Given the description of an element on the screen output the (x, y) to click on. 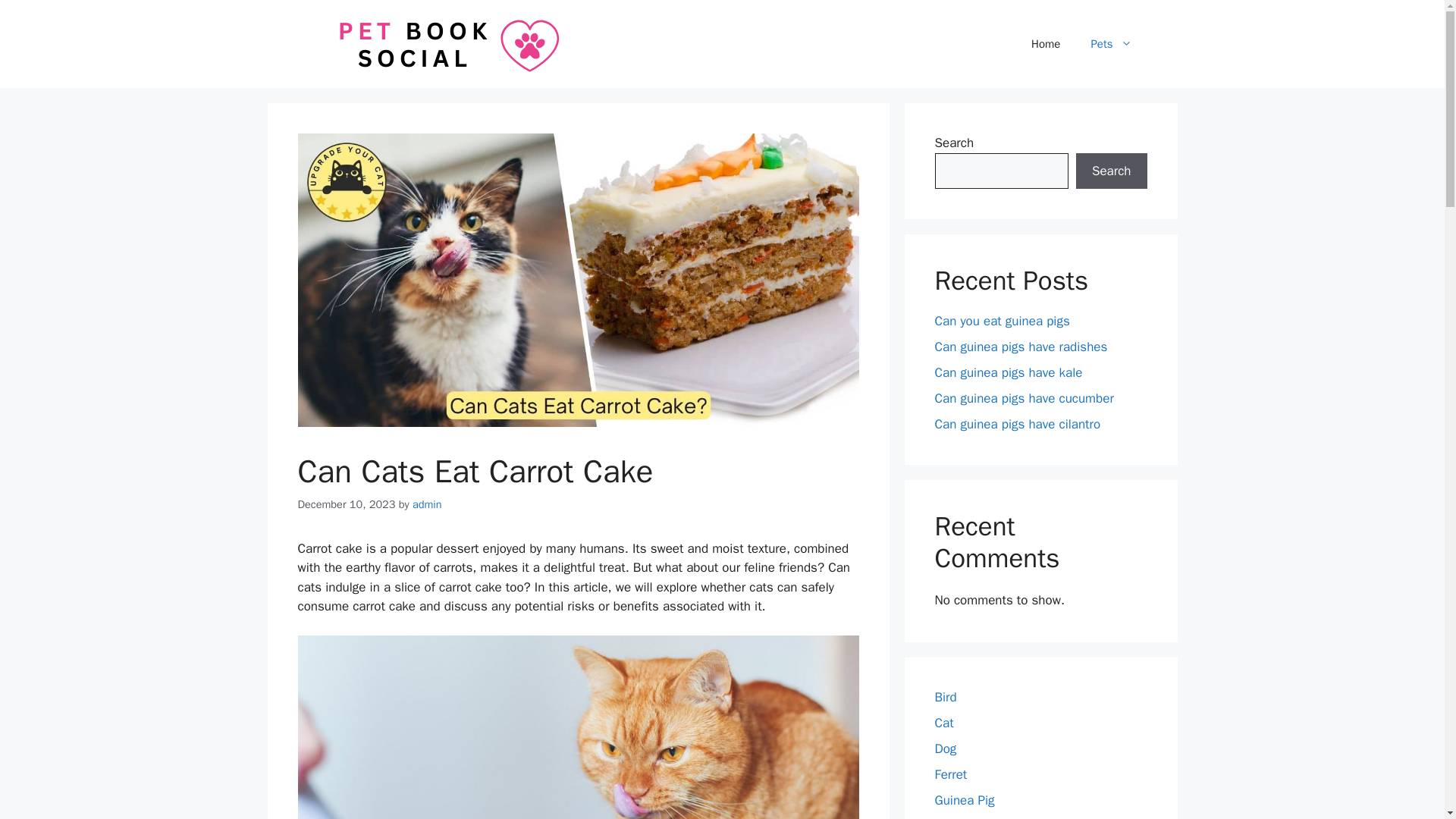
Can you eat guinea pigs (1001, 320)
Search (1111, 171)
Home (1045, 43)
Can guinea pigs have cilantro (1017, 424)
admin (427, 504)
Dog (945, 748)
Can guinea pigs have cucumber (1023, 398)
Can guinea pigs have kale (1007, 372)
View all posts by admin (427, 504)
Pets (1111, 43)
